Given the description of an element on the screen output the (x, y) to click on. 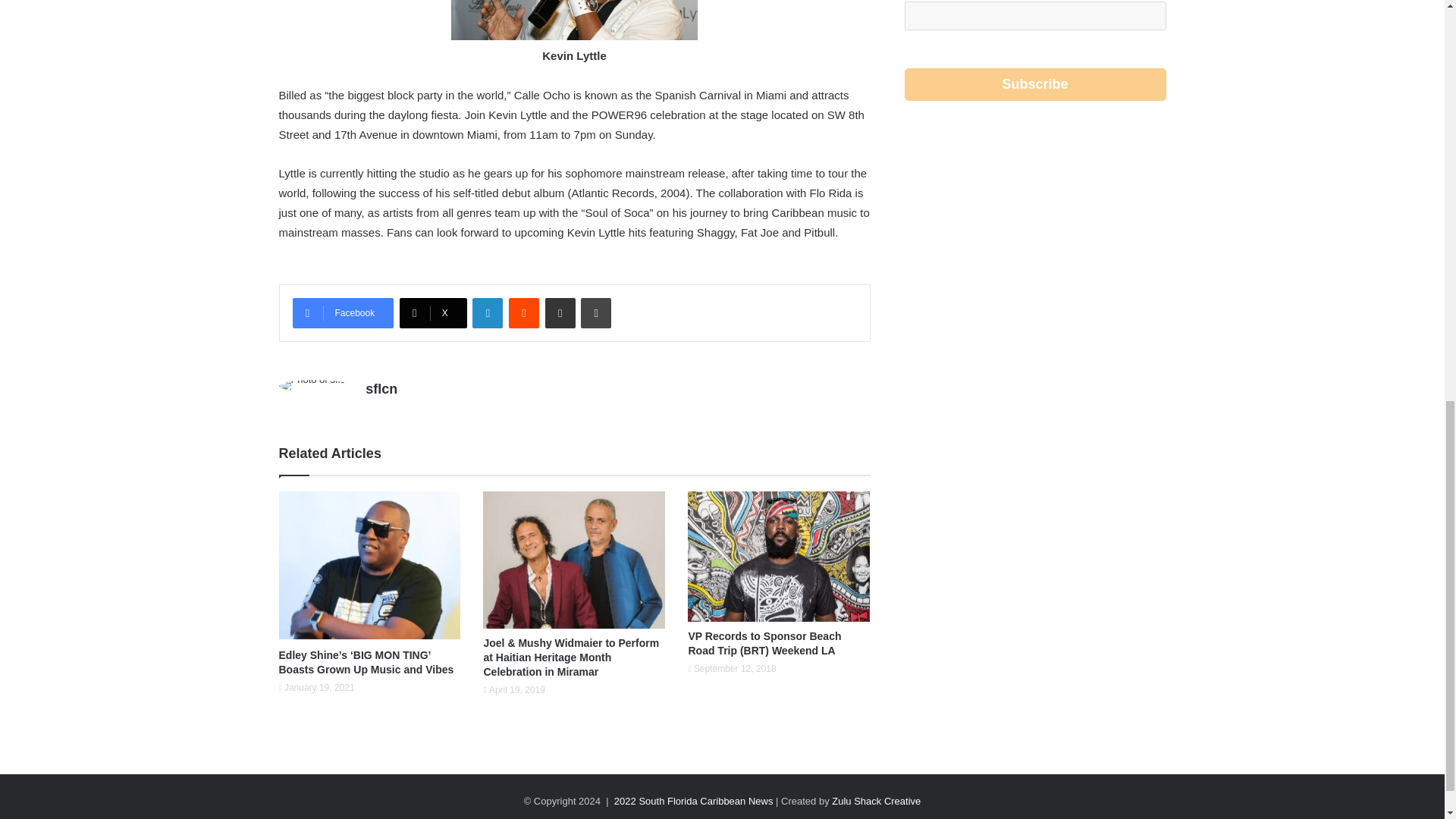
X (432, 313)
LinkedIn (486, 313)
3rd party ad content (1034, 479)
Print (595, 313)
Facebook (343, 313)
3rd party ad content (1034, 251)
Share via Email (559, 313)
LinkedIn (486, 313)
Share via Email (559, 313)
Reddit (523, 313)
X (432, 313)
Facebook (343, 313)
Reddit (523, 313)
